Given the description of an element on the screen output the (x, y) to click on. 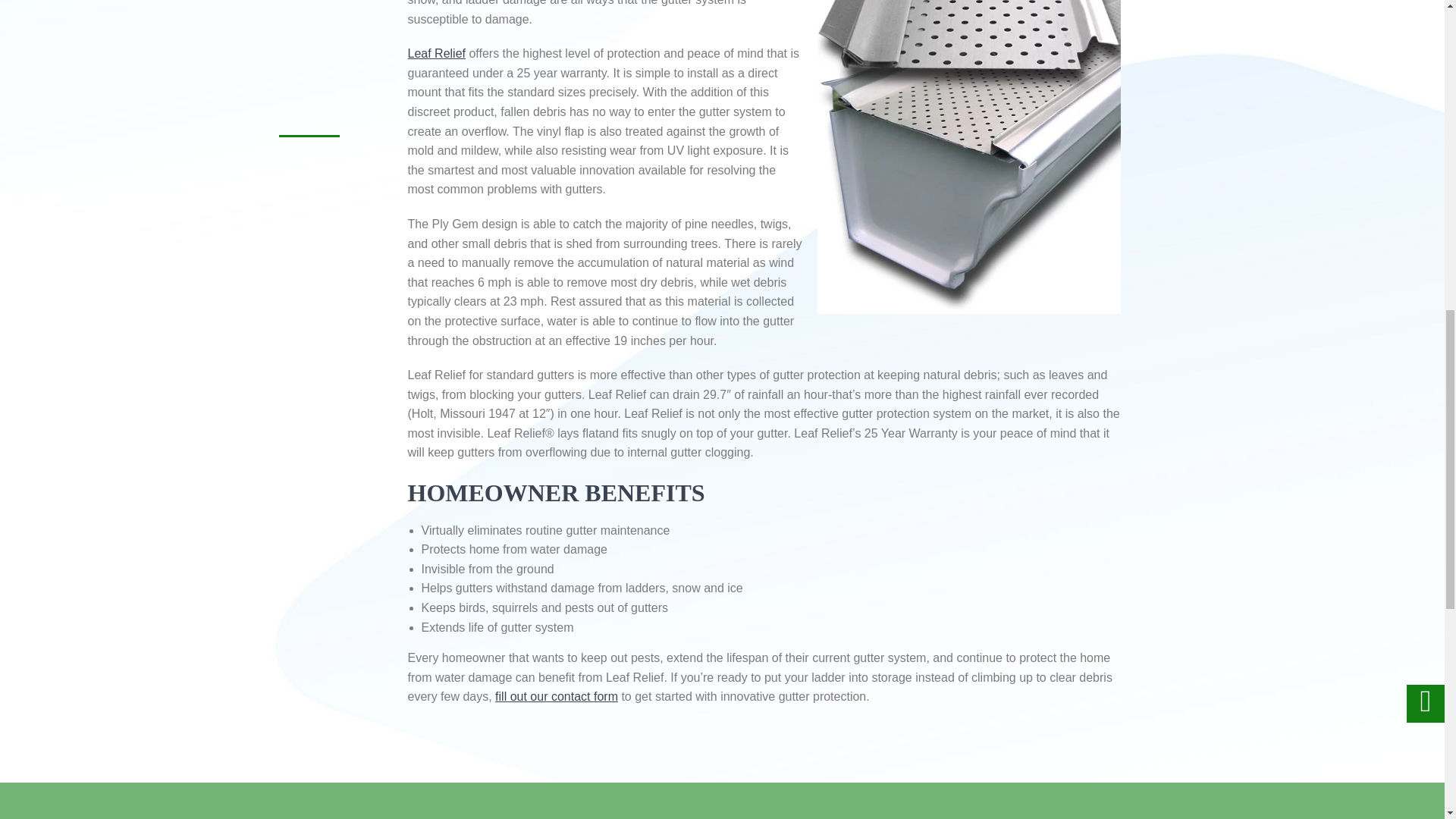
fill out our contact form (556, 696)
Leaf Relief (436, 52)
CONTACT US (556, 696)
PlyGem.com (436, 52)
Leaf Relief Gutter Protection (968, 157)
